Given the description of an element on the screen output the (x, y) to click on. 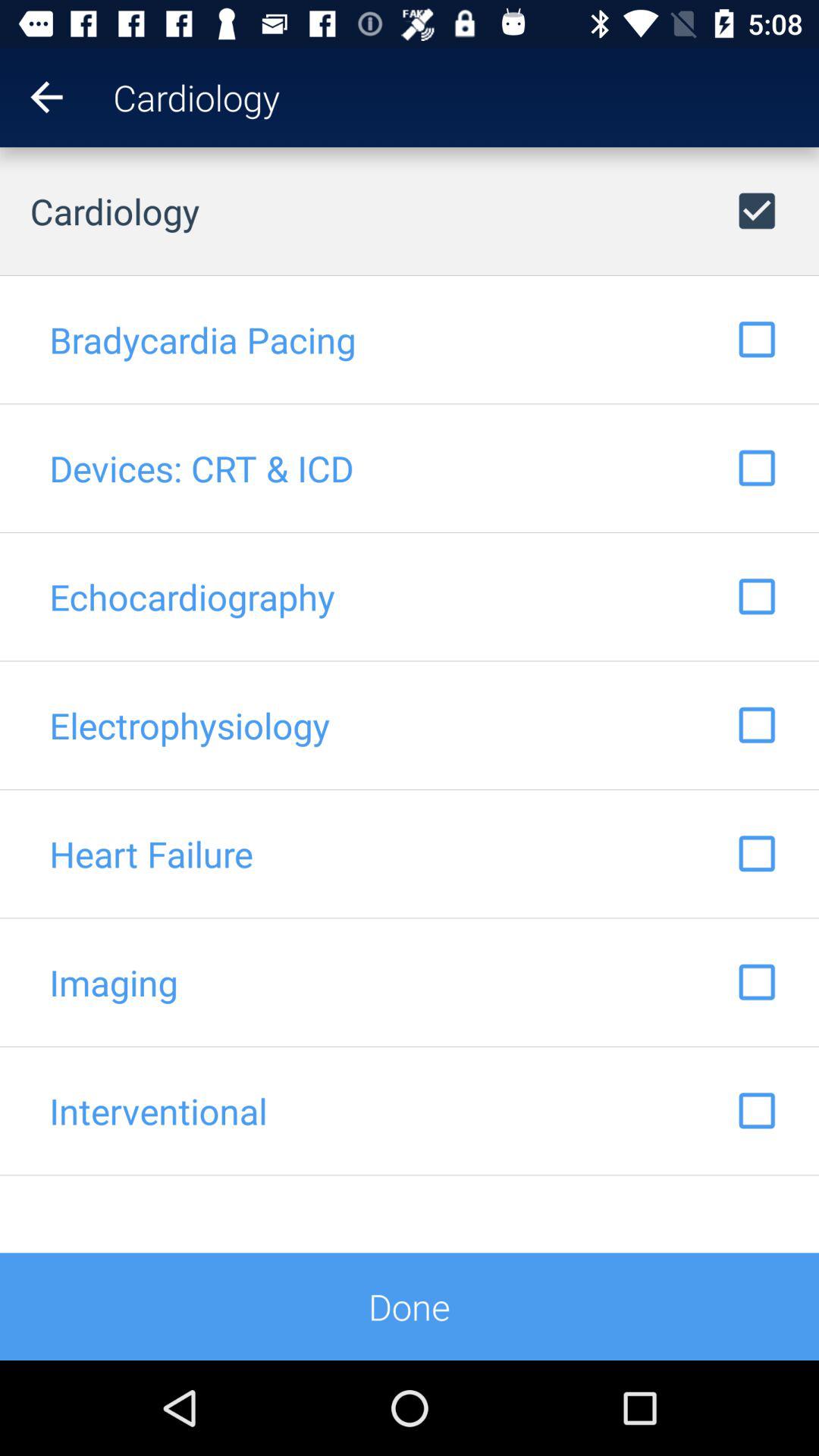
turn off the item to the right of the cardiology app (798, 97)
